Given the description of an element on the screen output the (x, y) to click on. 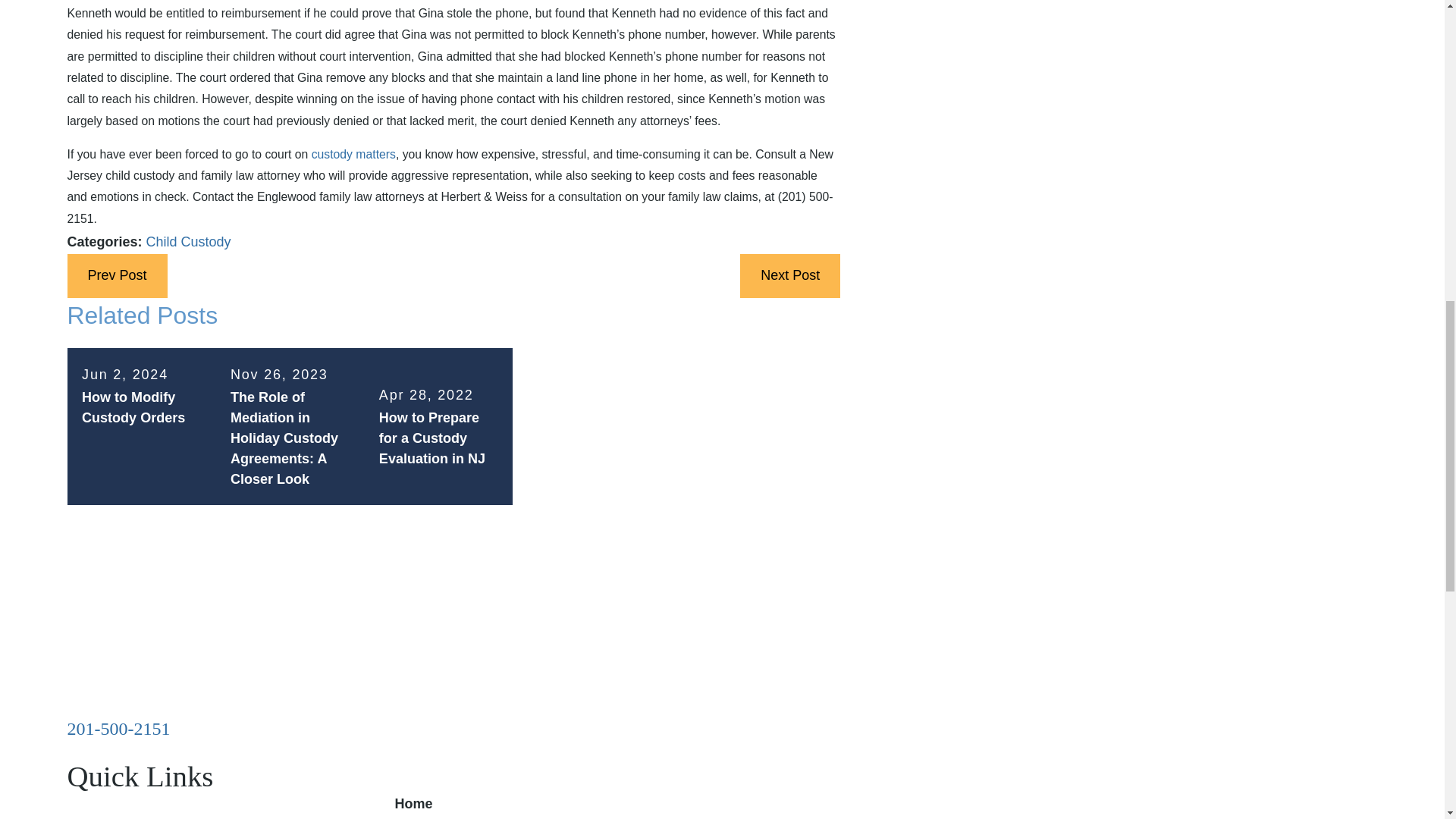
LinkedIn (115, 752)
Facebook (75, 752)
